Given the description of an element on the screen output the (x, y) to click on. 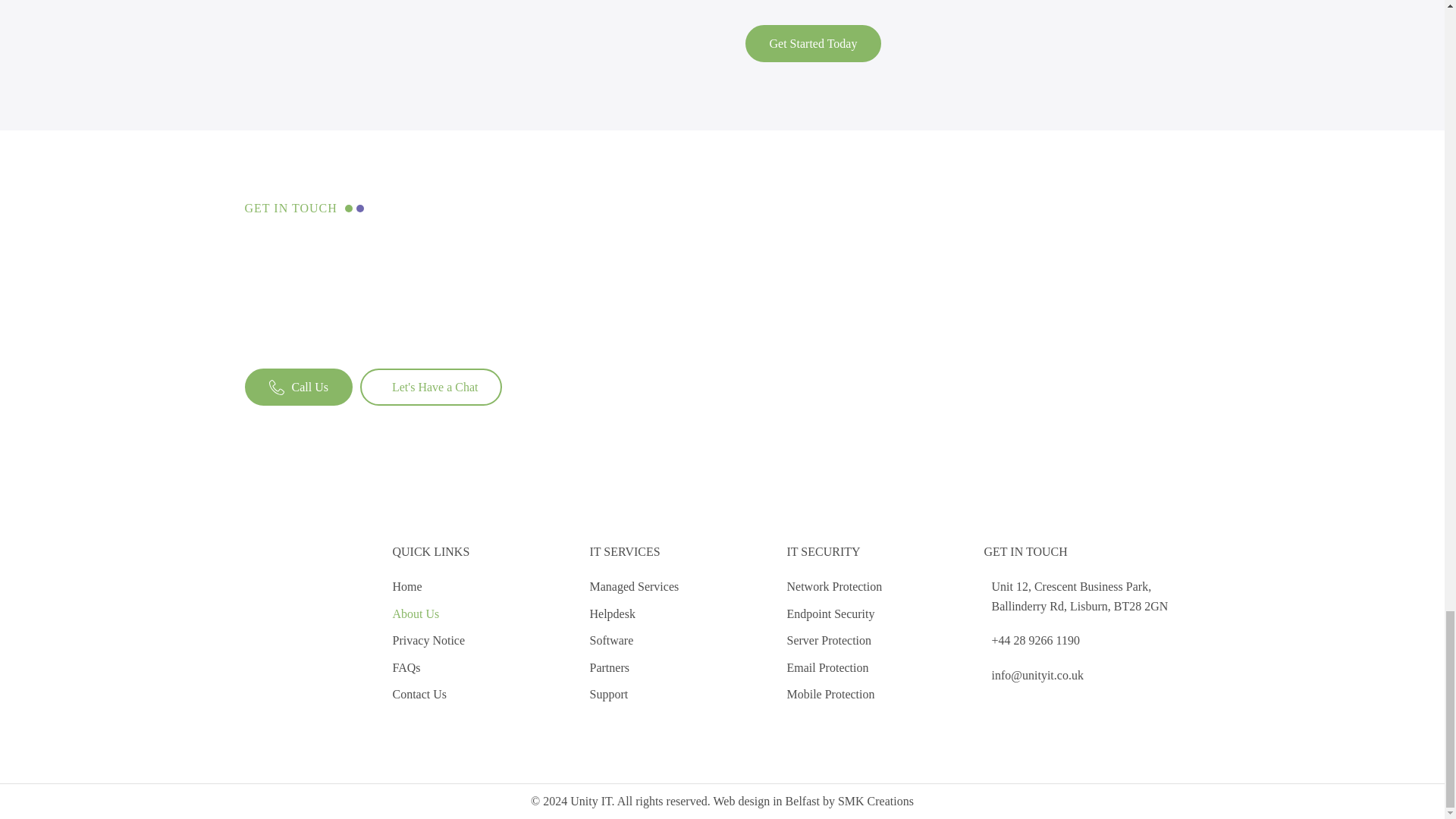
Network Protection (834, 587)
Managed Services (634, 587)
Privacy Notice (429, 640)
Contact Us (429, 694)
Server Protection (834, 640)
FAQs (429, 668)
Partners (634, 668)
Software (634, 640)
Let's Have a Chat (430, 387)
About Us (429, 614)
